Given the description of an element on the screen output the (x, y) to click on. 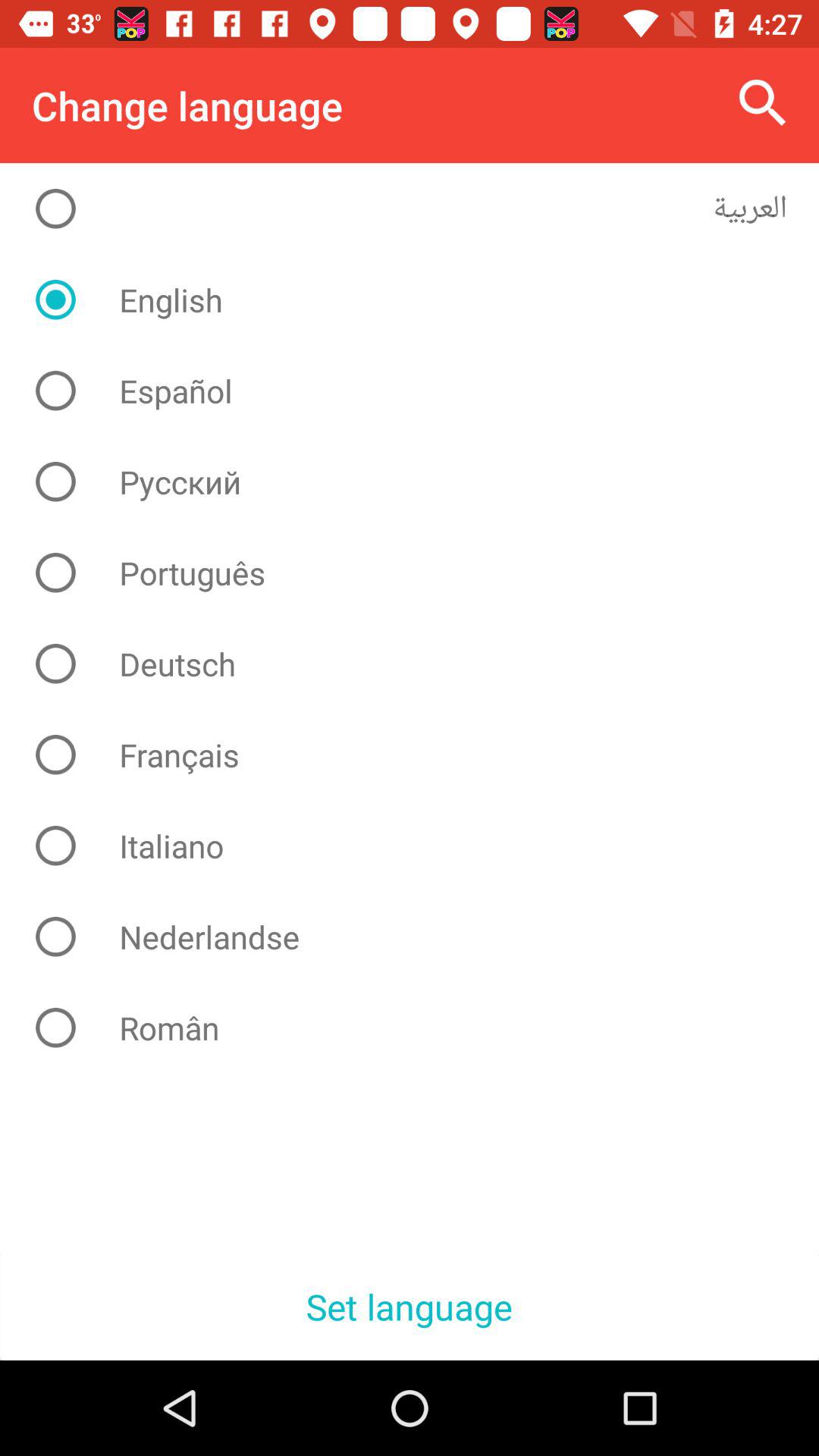
click item to the right of the change language (763, 103)
